Given the description of an element on the screen output the (x, y) to click on. 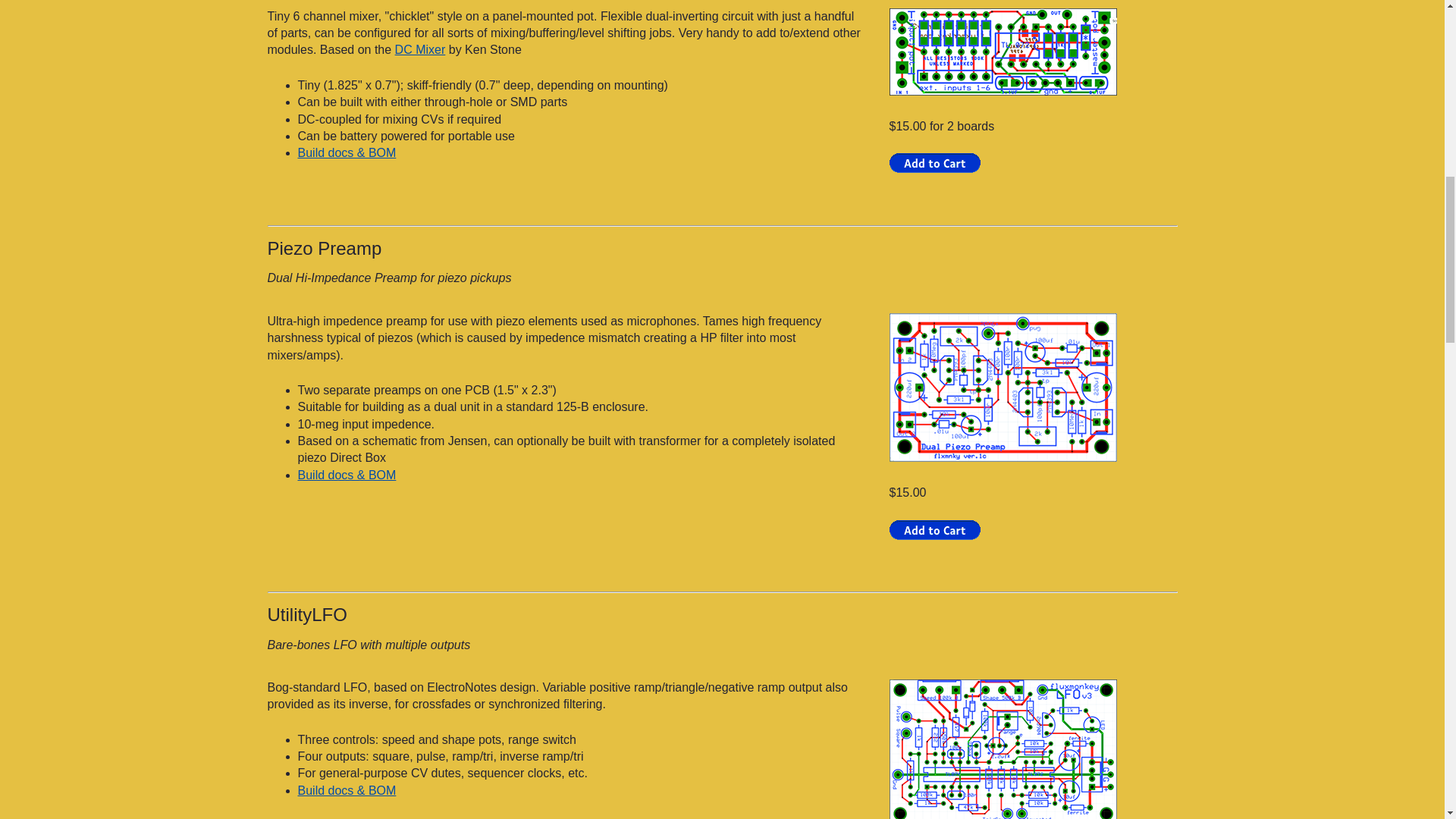
DC Mixer (419, 49)
